Given the description of an element on the screen output the (x, y) to click on. 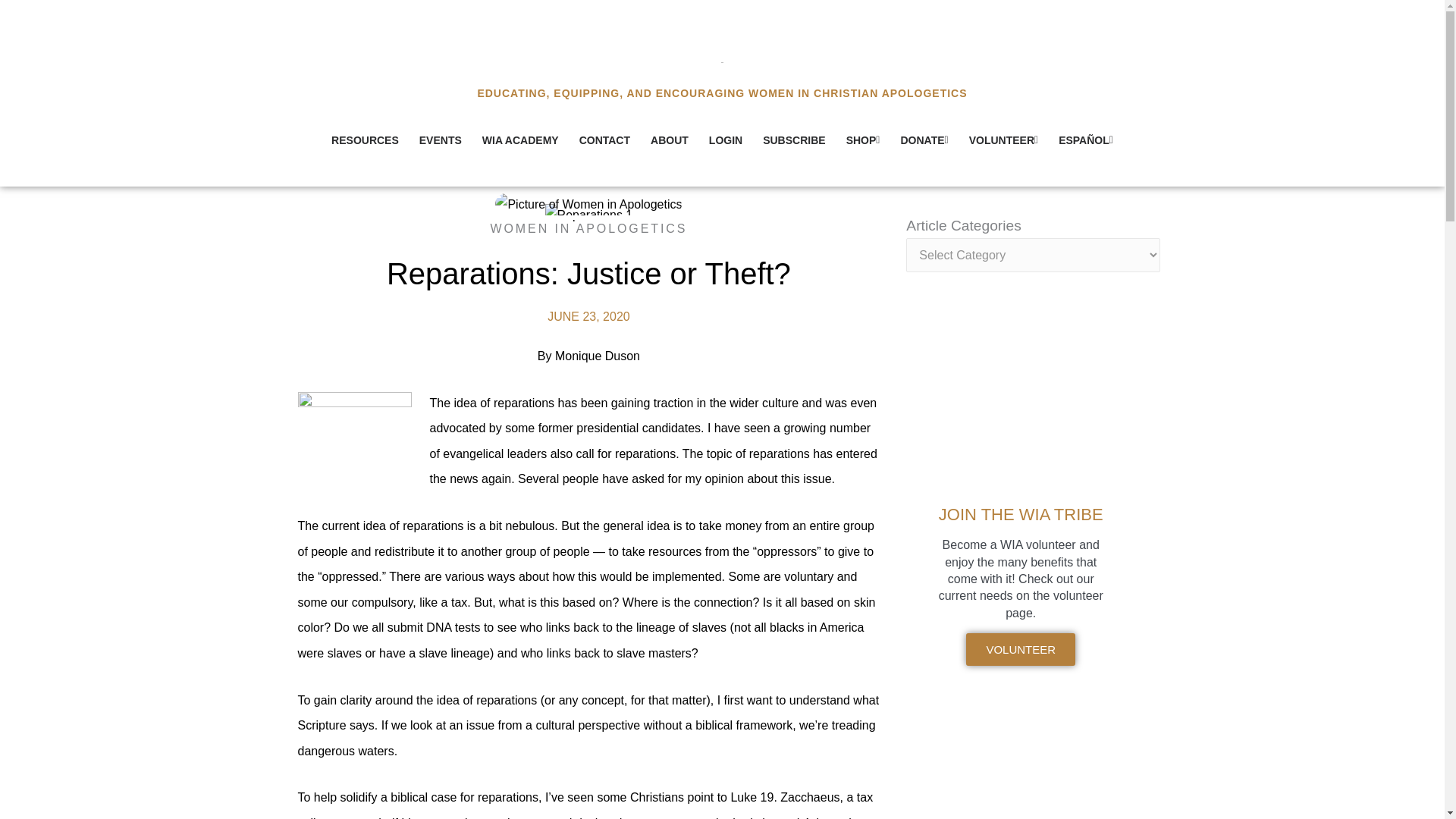
VOLUNTEER (1002, 139)
Reparations 1 (588, 214)
RESOURCES (364, 139)
DONATE (923, 139)
EVENTS (440, 139)
CONTACT (604, 139)
LOGIN (725, 139)
ABOUT (669, 139)
WIA ACADEMY (520, 139)
SHOP (863, 139)
